Given the description of an element on the screen output the (x, y) to click on. 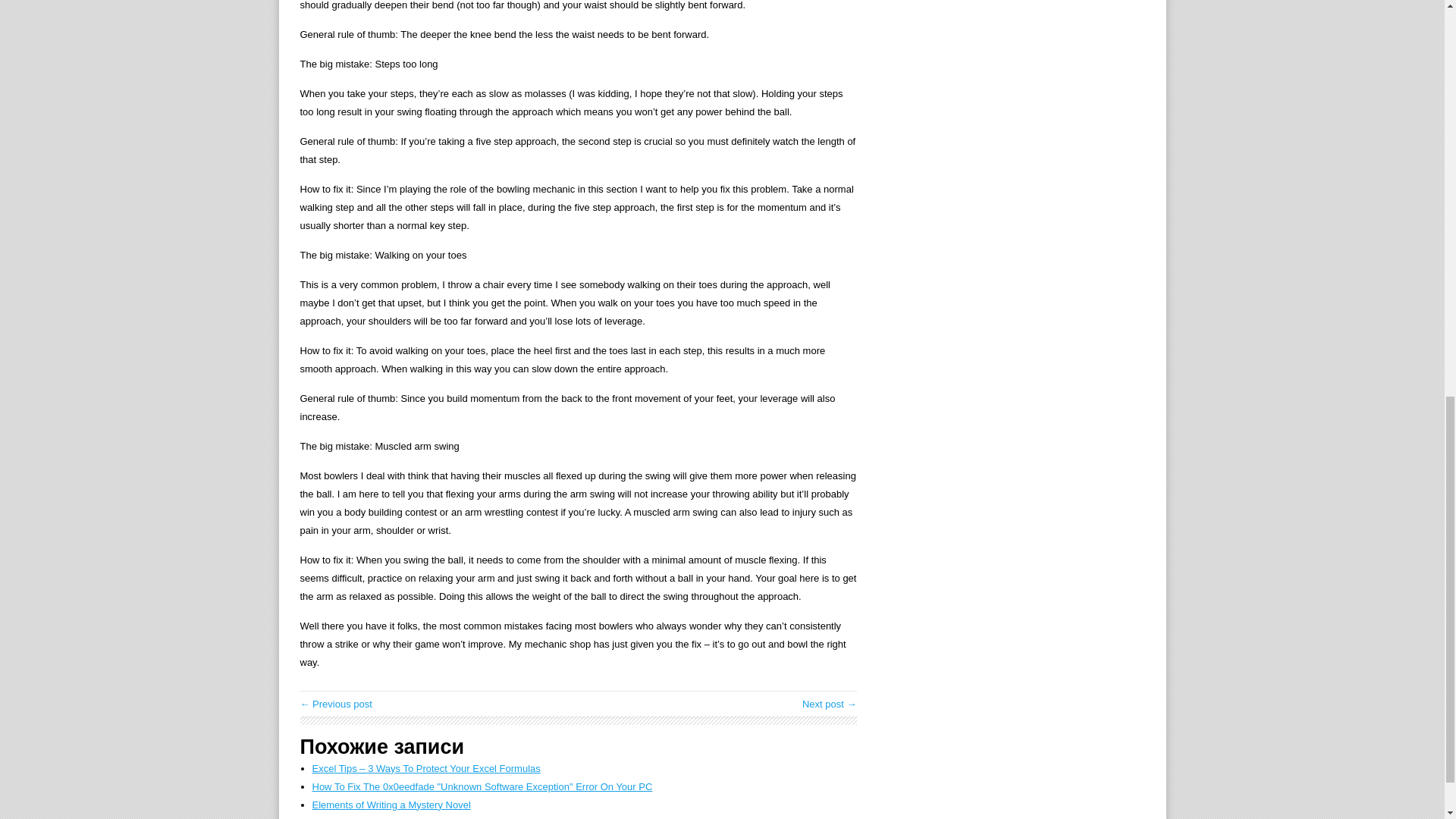
5 Steps To A Successful Account Plan (335, 704)
Elements of Writing a Mystery Novel (391, 804)
